Given the description of an element on the screen output the (x, y) to click on. 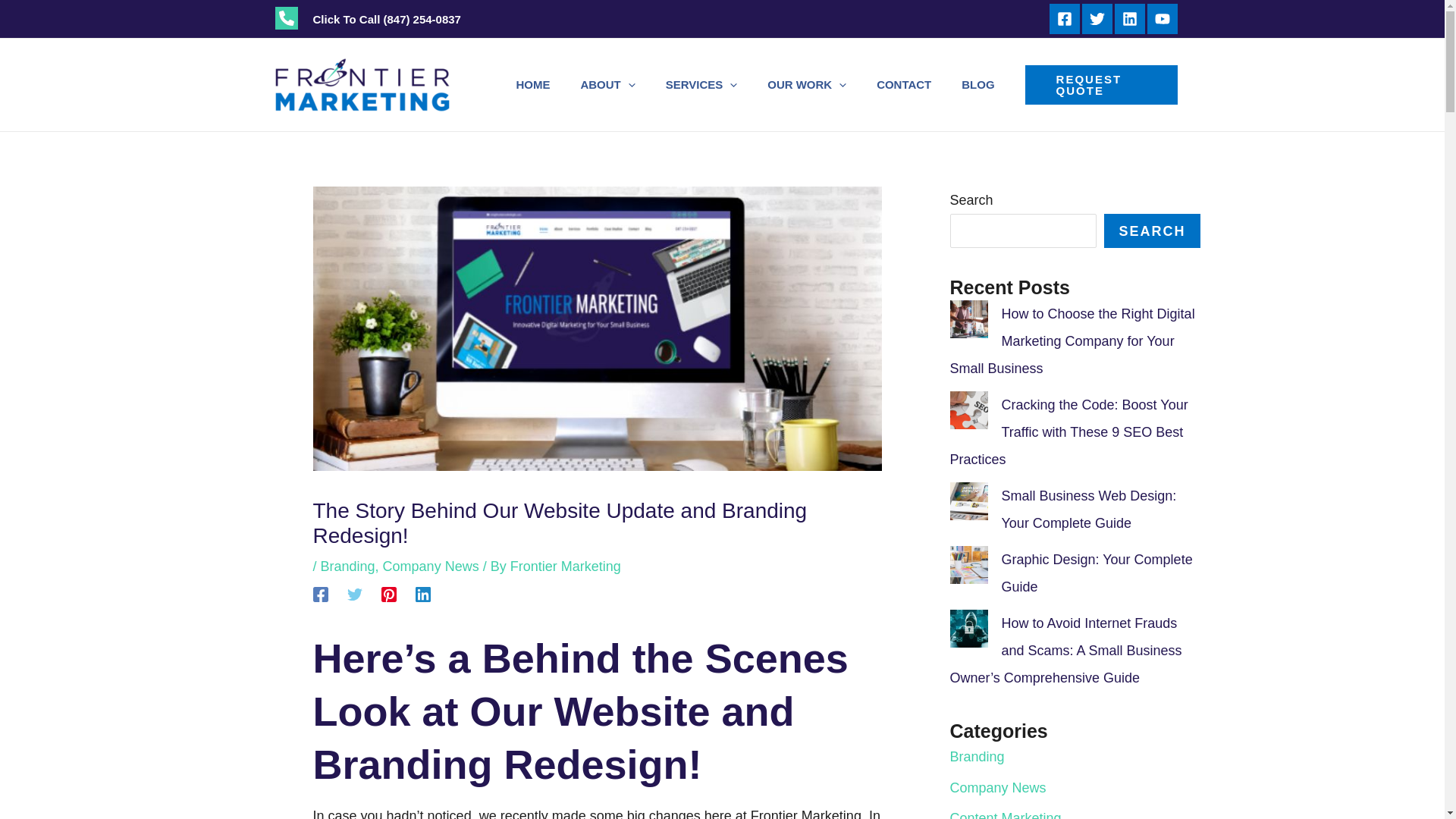
CONTACT (903, 84)
REQUEST QUOTE (1101, 84)
Company News (430, 566)
SERVICES (701, 84)
ABOUT (606, 84)
BLOG (977, 84)
Frontier Marketing (566, 566)
Branding (347, 566)
View all posts by Frontier Marketing (566, 566)
OUR WORK (806, 84)
